Given the description of an element on the screen output the (x, y) to click on. 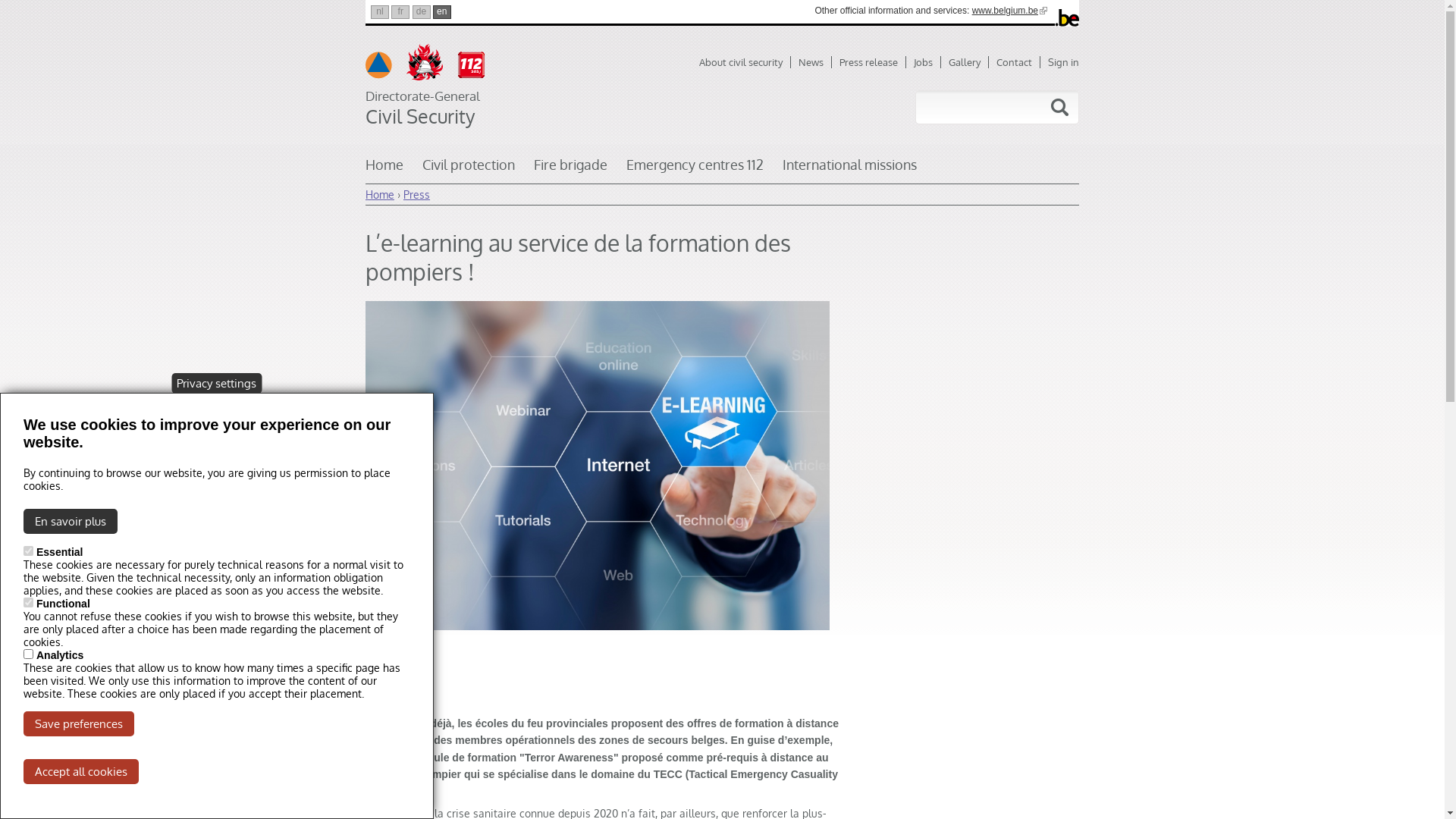
Enter the terms you wish to search for. Element type: hover (965, 107)
Civil protection Element type: text (468, 169)
Press Element type: text (416, 194)
nl Element type: text (379, 11)
Home Element type: text (379, 194)
en Element type: text (442, 11)
En savoir plus Element type: text (70, 520)
de Element type: text (421, 11)
Home Element type: text (384, 169)
Search Element type: text (1059, 107)
About civil security Element type: text (744, 62)
Save preferences Element type: text (78, 723)
Emergency centres 112 Element type: text (694, 169)
Sign in Element type: text (1063, 62)
Accept all cookies Element type: text (80, 771)
Jobs Element type: text (927, 62)
International missions Element type: text (849, 169)
Gallery Element type: text (968, 62)
Press release Element type: text (872, 62)
Contact Element type: text (1018, 62)
Fire brigade Element type: text (570, 169)
www.belgium.be
(link is external) Element type: text (1009, 10)
fr Element type: text (400, 11)
News Element type: text (814, 62)
Privacy settings Element type: text (216, 383)
